Given the description of an element on the screen output the (x, y) to click on. 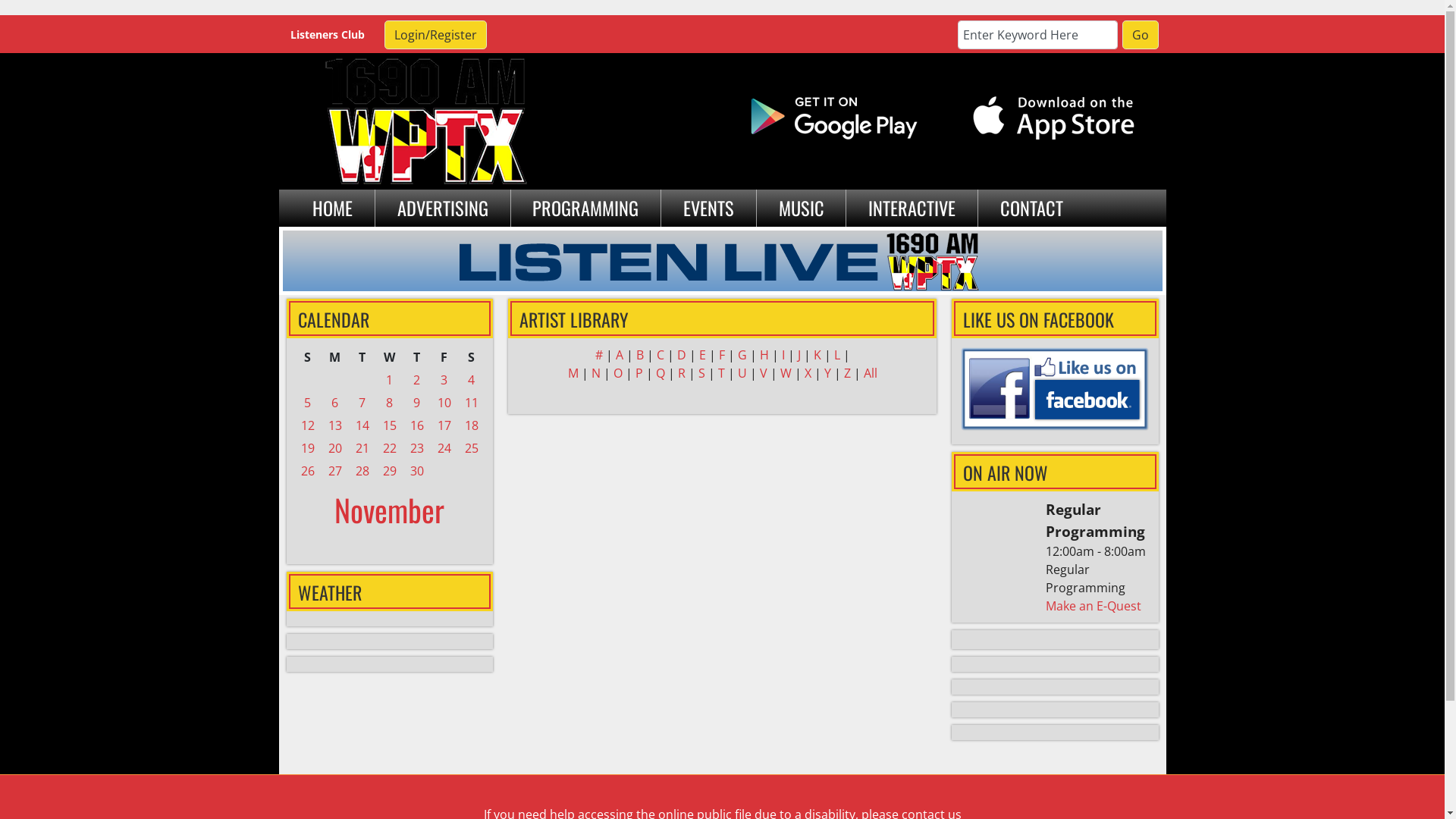
V Element type: text (764, 372)
I Element type: text (784, 354)
14 Element type: text (362, 425)
X Element type: text (808, 372)
U Element type: text (743, 372)
19 Element type: text (307, 447)
ADVERTISING Element type: text (442, 207)
W Element type: text (786, 372)
24 Element type: text (444, 447)
13 Element type: text (335, 425)
Enter Keyword Here Element type: text (1037, 34)
S Element type: text (702, 372)
Z Element type: text (848, 372)
25 Element type: text (471, 447)
G Element type: text (743, 354)
E Element type: text (704, 354)
18 Element type: text (471, 425)
P Element type: text (640, 372)
21 Element type: text (362, 447)
3 Element type: text (443, 379)
H Element type: text (765, 354)
15 Element type: text (389, 425)
Login/Register Element type: text (435, 34)
C Element type: text (661, 354)
11 Element type: text (471, 402)
HOME Element type: text (333, 207)
23 Element type: text (416, 447)
10 Element type: text (444, 402)
1 Element type: text (388, 379)
PROGRAMMING Element type: text (586, 207)
J Element type: text (800, 354)
N Element type: text (597, 372)
27 Element type: text (335, 470)
November Element type: text (390, 509)
12 Element type: text (307, 425)
2 Element type: text (416, 379)
4 Element type: text (470, 379)
26 Element type: text (307, 470)
22 Element type: text (389, 447)
7 Element type: text (361, 402)
EVENTS Element type: text (708, 207)
Make an E-Quest Element type: text (1093, 605)
16 Element type: text (416, 425)
6 Element type: text (334, 402)
A Element type: text (620, 354)
D Element type: text (682, 354)
T Element type: text (722, 372)
M Element type: text (573, 372)
30 Element type: text (416, 470)
28 Element type: text (362, 470)
5 Element type: text (307, 402)
Y Element type: text (828, 372)
R Element type: text (682, 372)
20 Element type: text (335, 447)
Q Element type: text (661, 372)
CONTACT Element type: text (1031, 207)
All Element type: text (869, 372)
MUSIC Element type: text (801, 207)
K Element type: text (817, 354)
O Element type: text (618, 372)
L Element type: text (838, 354)
8 Element type: text (388, 402)
INTERACTIVE Element type: text (911, 207)
# Element type: text (599, 354)
9 Element type: text (416, 402)
17 Element type: text (444, 425)
29 Element type: text (389, 470)
B Element type: text (640, 354)
Go Element type: text (1140, 34)
F Element type: text (723, 354)
